Given the description of an element on the screen output the (x, y) to click on. 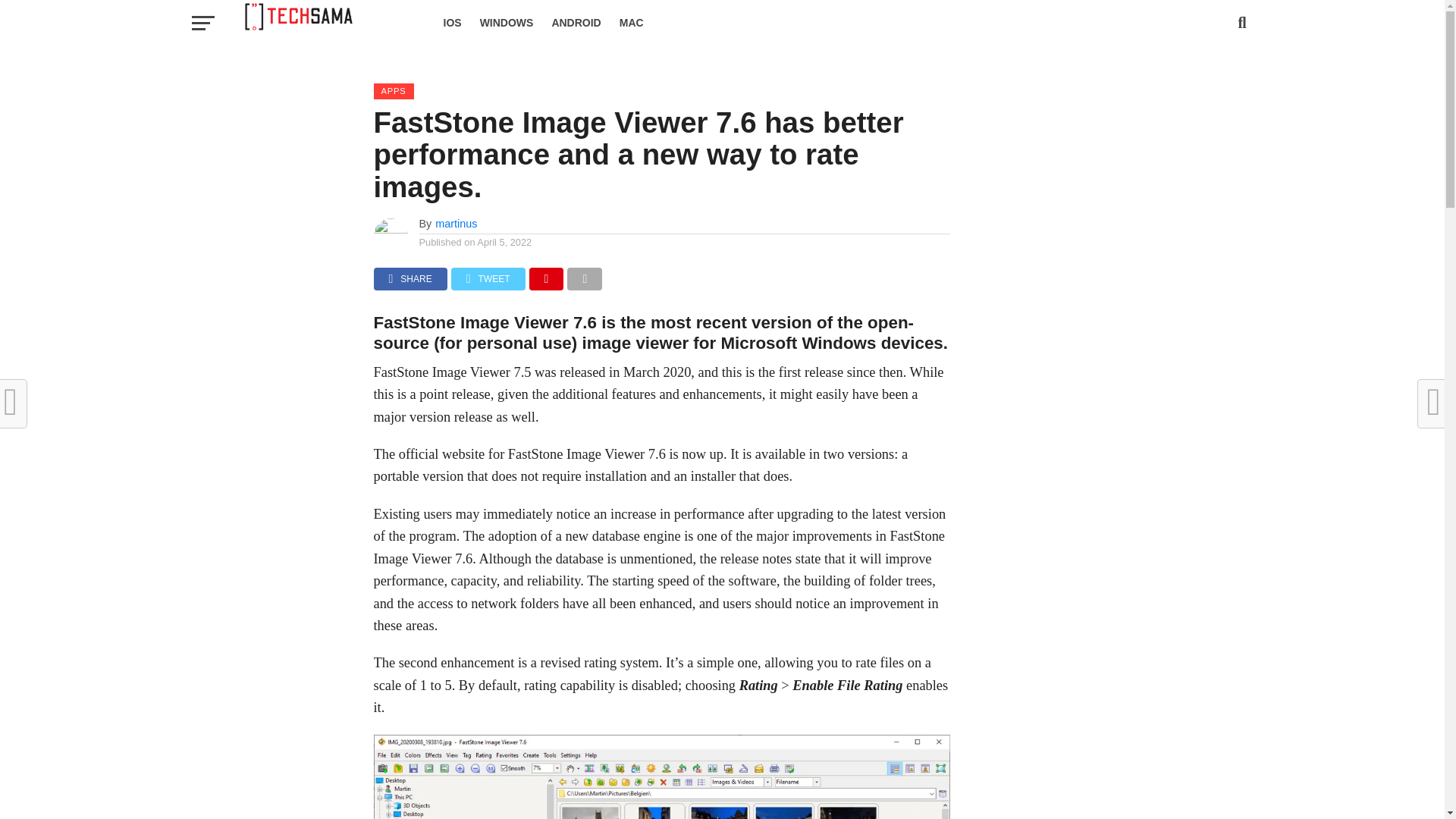
Posts by martinus (456, 223)
ANDROID (575, 22)
MAC (631, 22)
WINDOWS (506, 22)
martinus (456, 223)
